Given the description of an element on the screen output the (x, y) to click on. 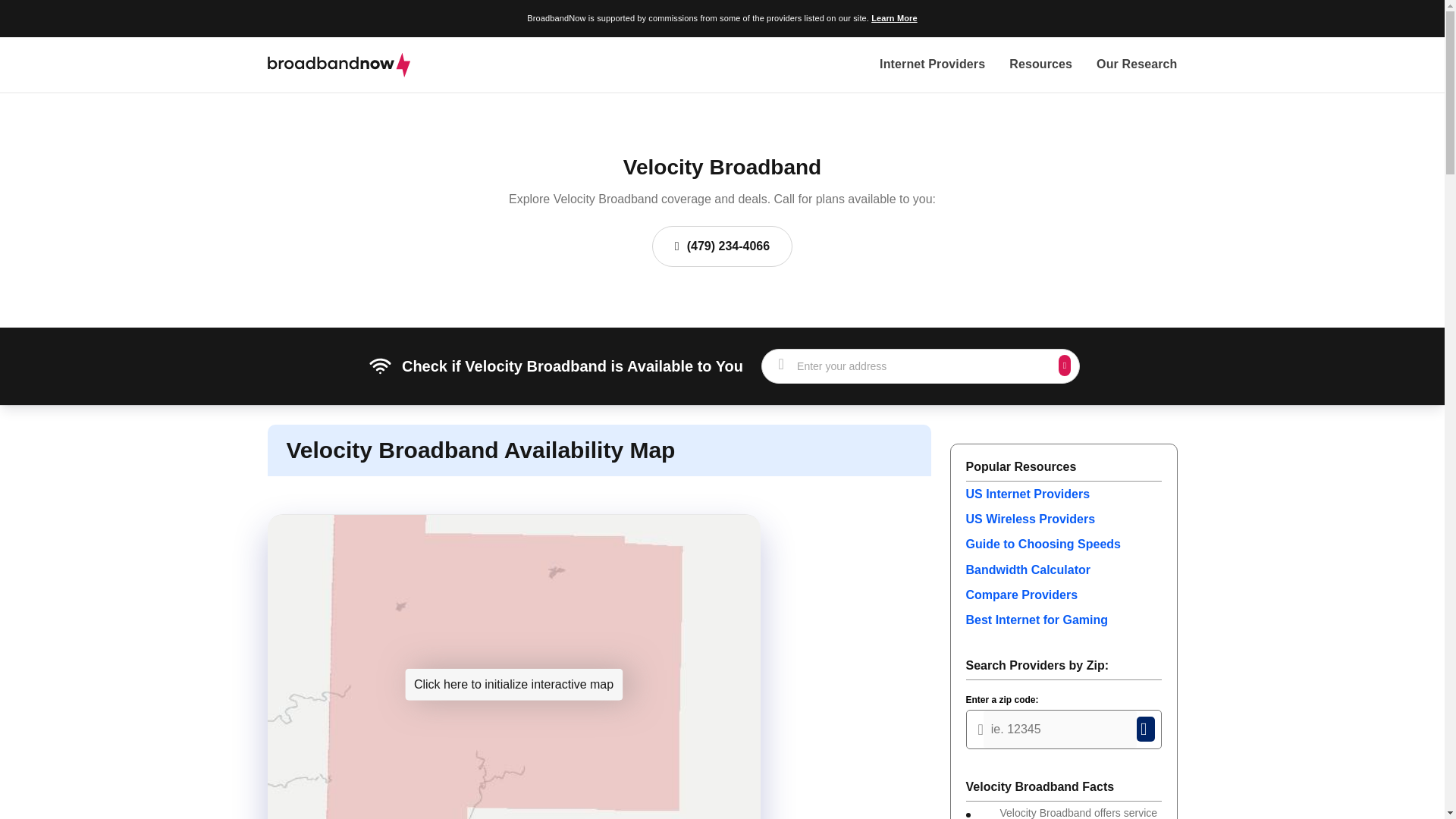
Resources (1040, 64)
Our Research (1136, 64)
Internet Providers (932, 64)
Learn More (893, 17)
